Given the description of an element on the screen output the (x, y) to click on. 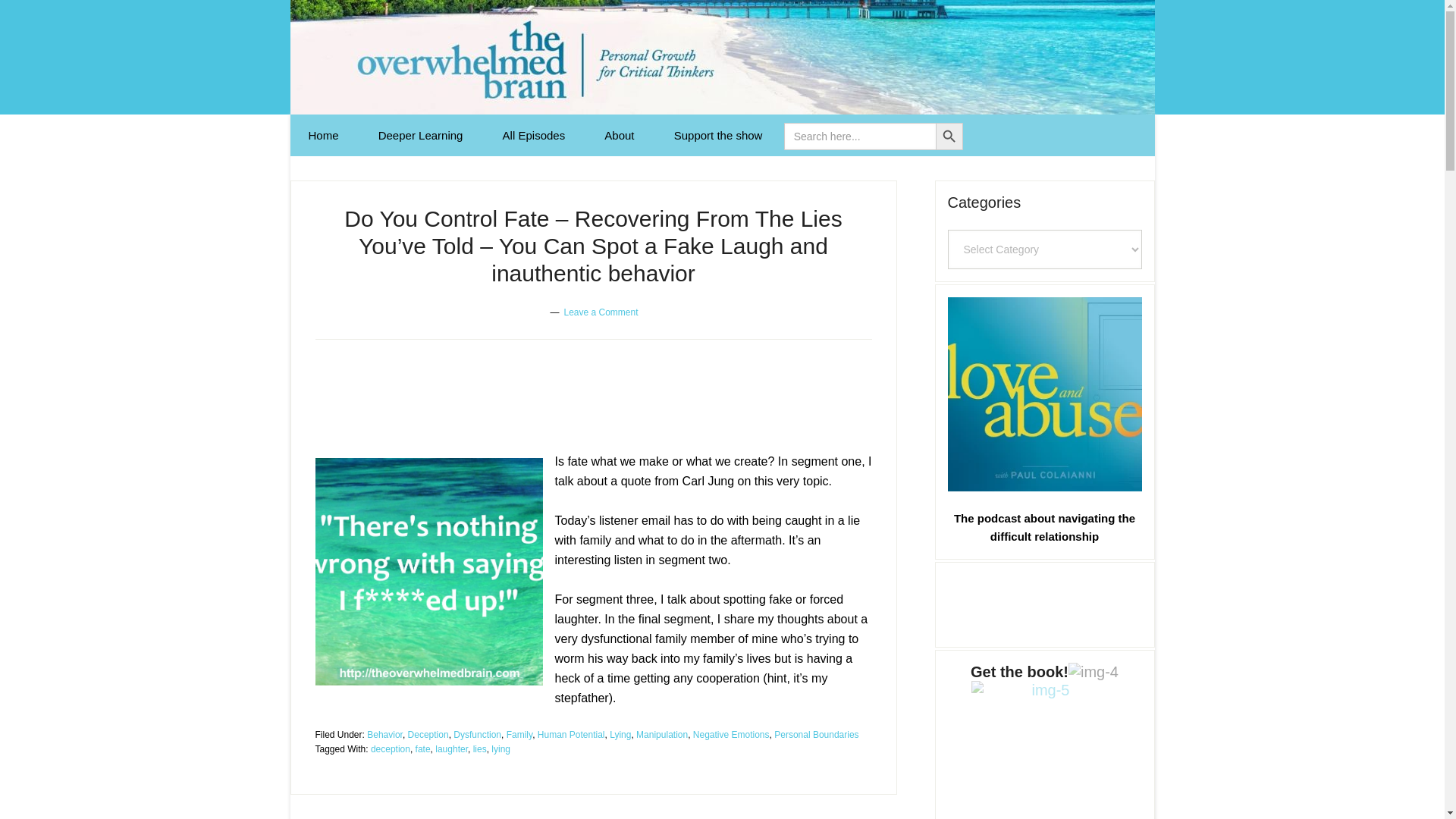
Lying (620, 734)
All Episodes (533, 135)
Family (519, 734)
Manipulation (661, 734)
The Overwhelmed Brain (721, 57)
Deception (427, 734)
Negative Emotions (731, 734)
fate (422, 748)
Support the show (718, 135)
Personal Boundaries (816, 734)
